Given the description of an element on the screen output the (x, y) to click on. 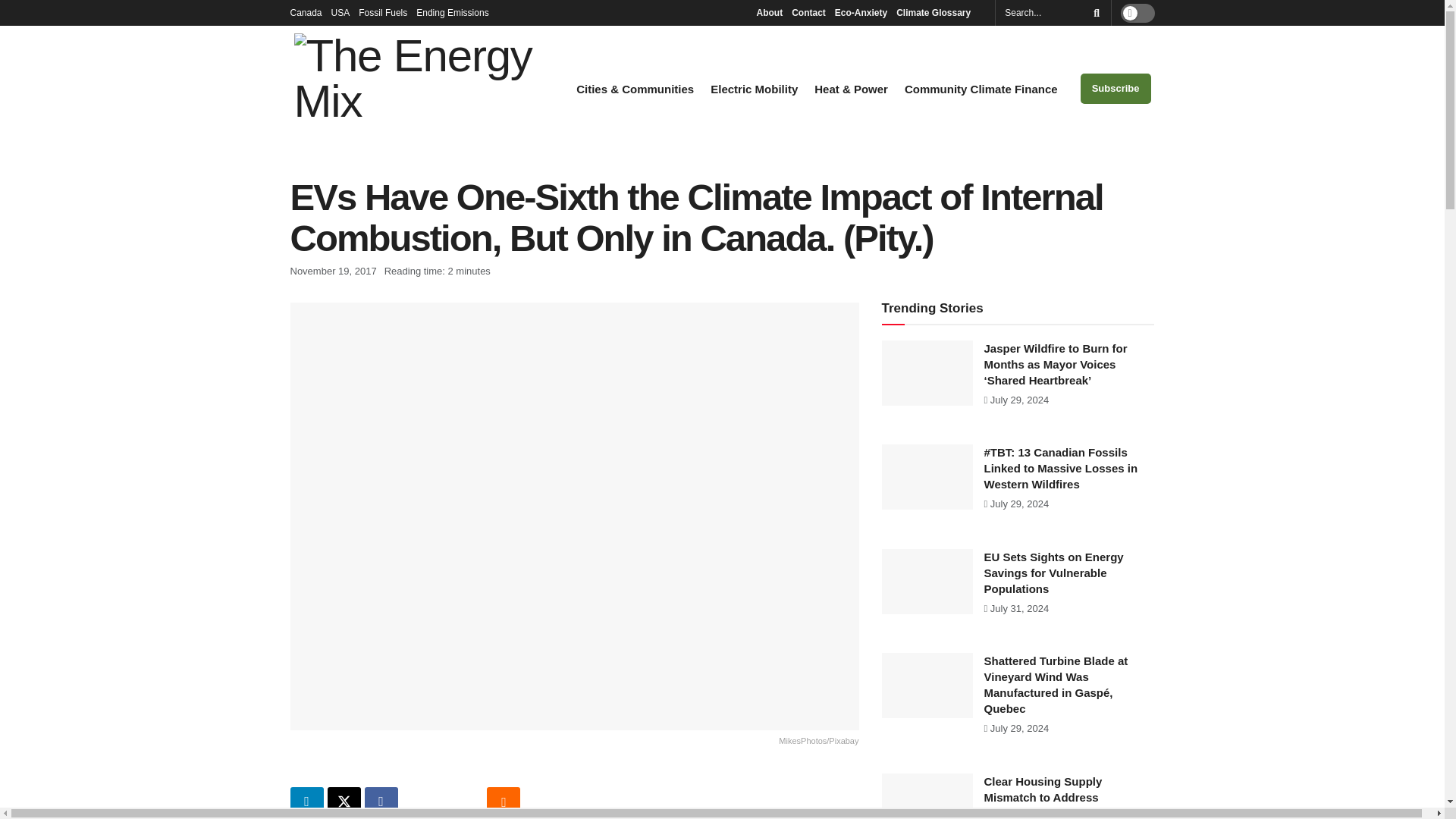
November 19, 2017 (332, 270)
Ending Emissions (456, 12)
Climate Glossary (937, 12)
Community Climate Finance (981, 89)
Electric Mobility (753, 89)
Fossil Fuels (382, 12)
Eco-Anxiety (860, 12)
About (769, 12)
Contact (808, 12)
Canada (305, 12)
